Given the description of an element on the screen output the (x, y) to click on. 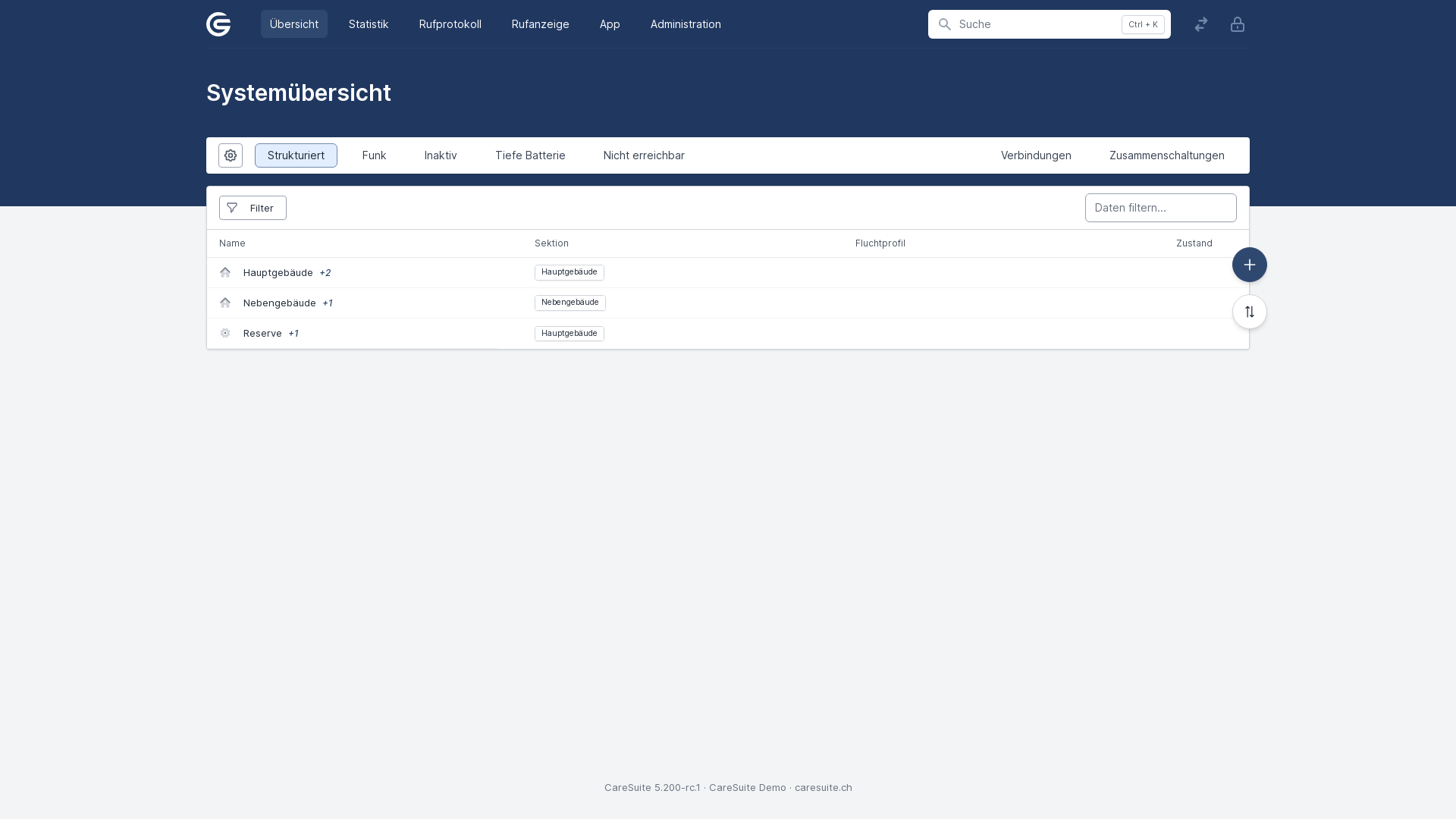
Filter Element type: text (252, 207)
Nicht erreichbar Element type: text (643, 155)
Zusammenschaltungen Element type: text (1166, 155)
Statistik Element type: text (368, 23)
Erstellen Element type: hover (1249, 264)
Strukturiert Element type: text (295, 155)
Verbindungen Element type: text (1036, 155)
App Element type: text (609, 23)
Technik Element type: hover (228, 332)
Rufprotokoll Element type: text (450, 23)
Rufanzeige Element type: text (540, 23)
Inaktiv Element type: text (440, 155)
Funk Element type: text (374, 155)
Tiefe Batterie Element type: text (530, 155)
caresuite.ch Element type: text (823, 787)
Administration Element type: text (685, 23)
